Given the description of an element on the screen output the (x, y) to click on. 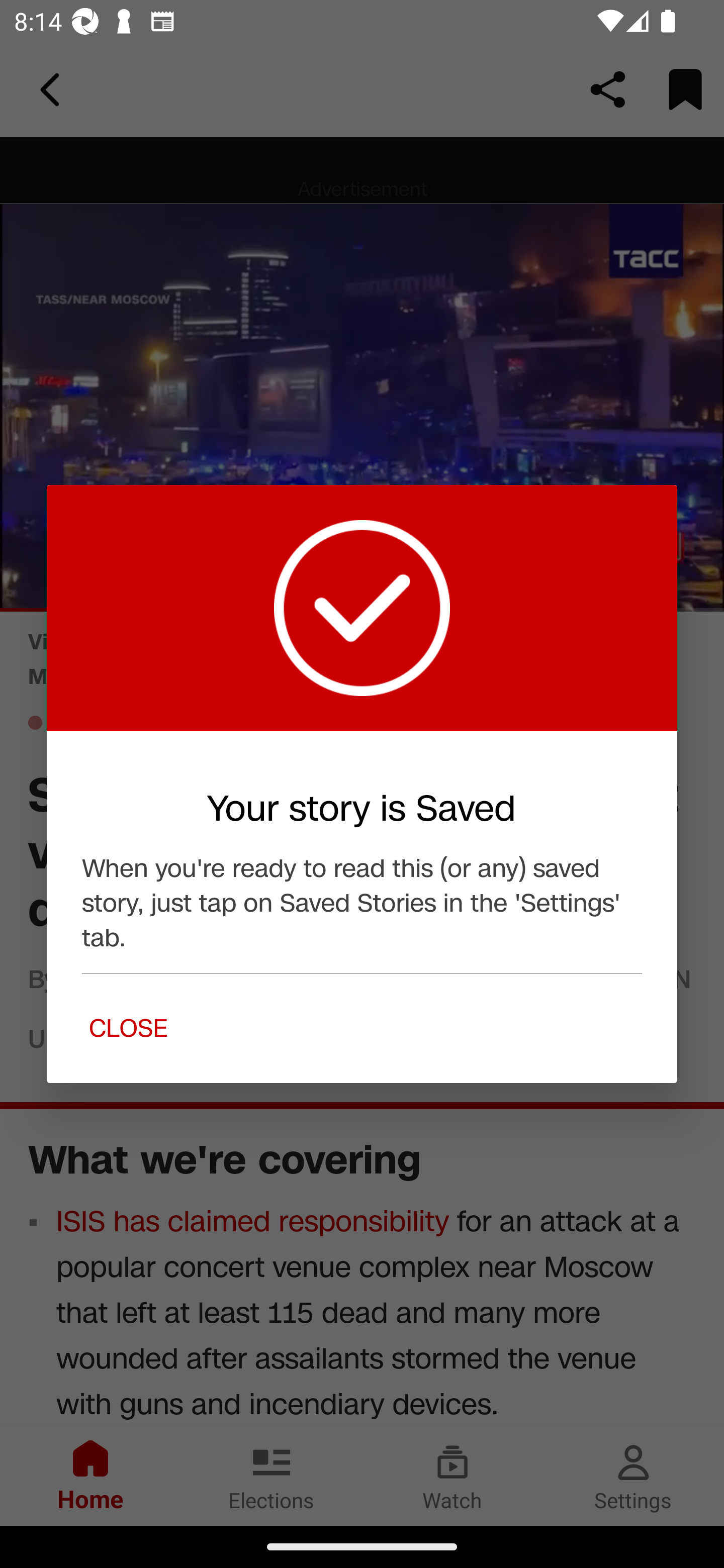
CLOSE (128, 1028)
